Given the description of an element on the screen output the (x, y) to click on. 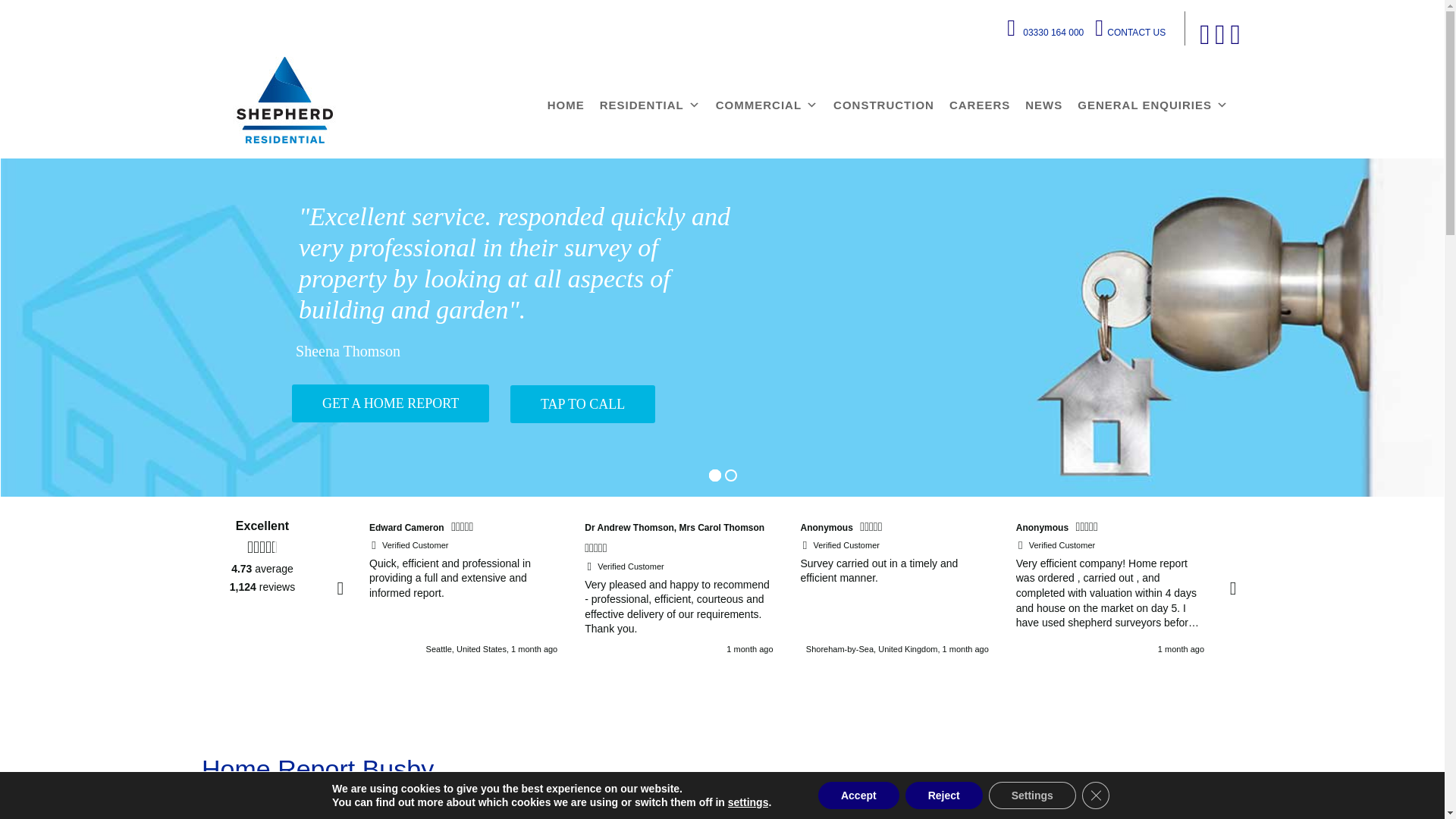
GENERAL ENQUIRIES (1153, 105)
5 Stars (464, 528)
HOME (566, 105)
5 Stars (597, 549)
CONTACT US (1136, 32)
03330 164 000 (1053, 32)
NEWS (1043, 105)
CAREERS (979, 105)
4.73 Stars (262, 547)
RESIDENTIAL (649, 105)
COMMERCIAL (766, 105)
CONSTRUCTION (883, 105)
5 Stars (1386, 528)
5 Stars (1088, 528)
Read more reviews on REVIEWS.io (261, 644)
